Given the description of an element on the screen output the (x, y) to click on. 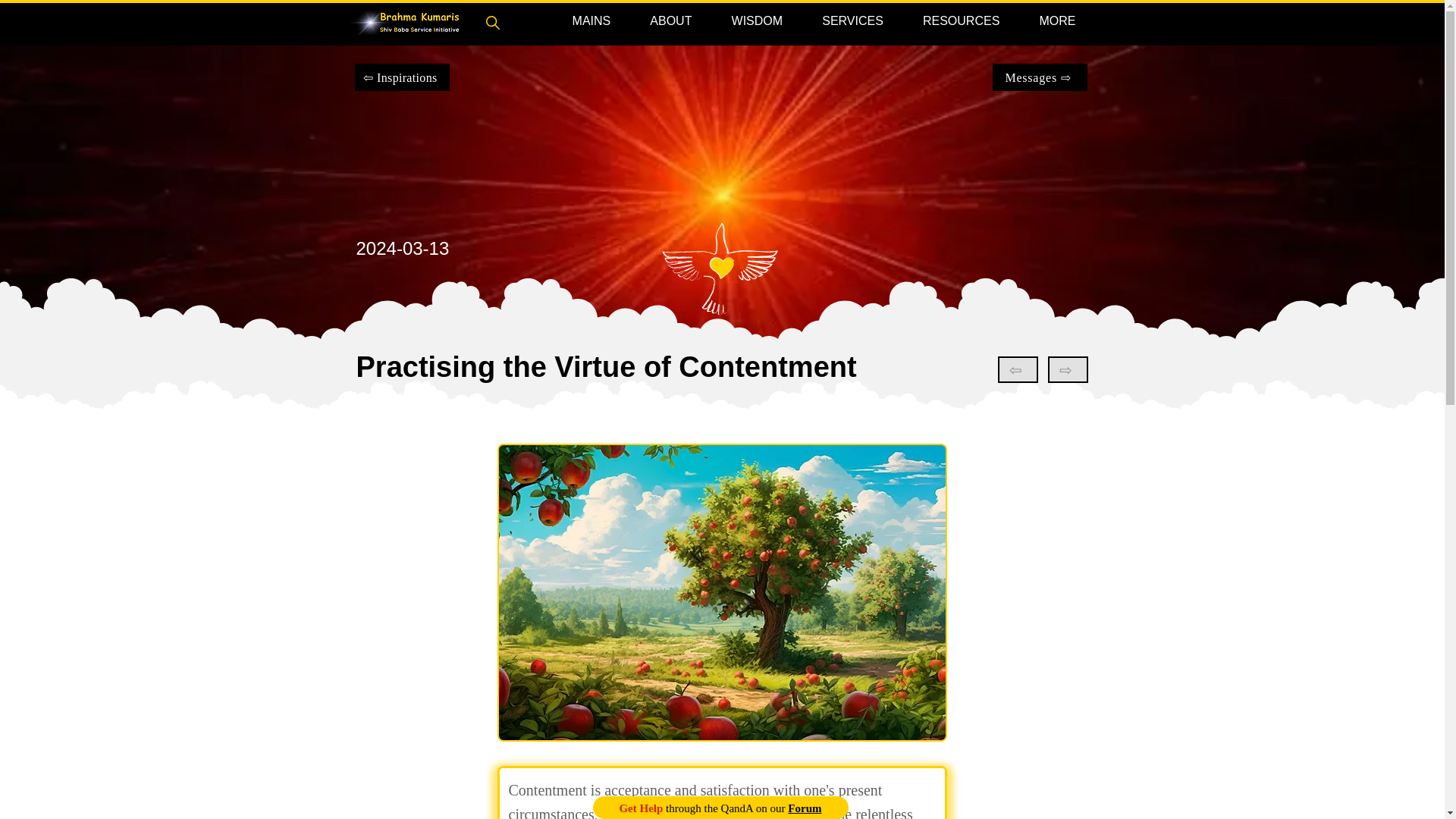
SERVICES (852, 21)
RESOURCES (960, 21)
Virtue of Contentment (722, 592)
Brahma Kumaris (405, 22)
